Given the description of an element on the screen output the (x, y) to click on. 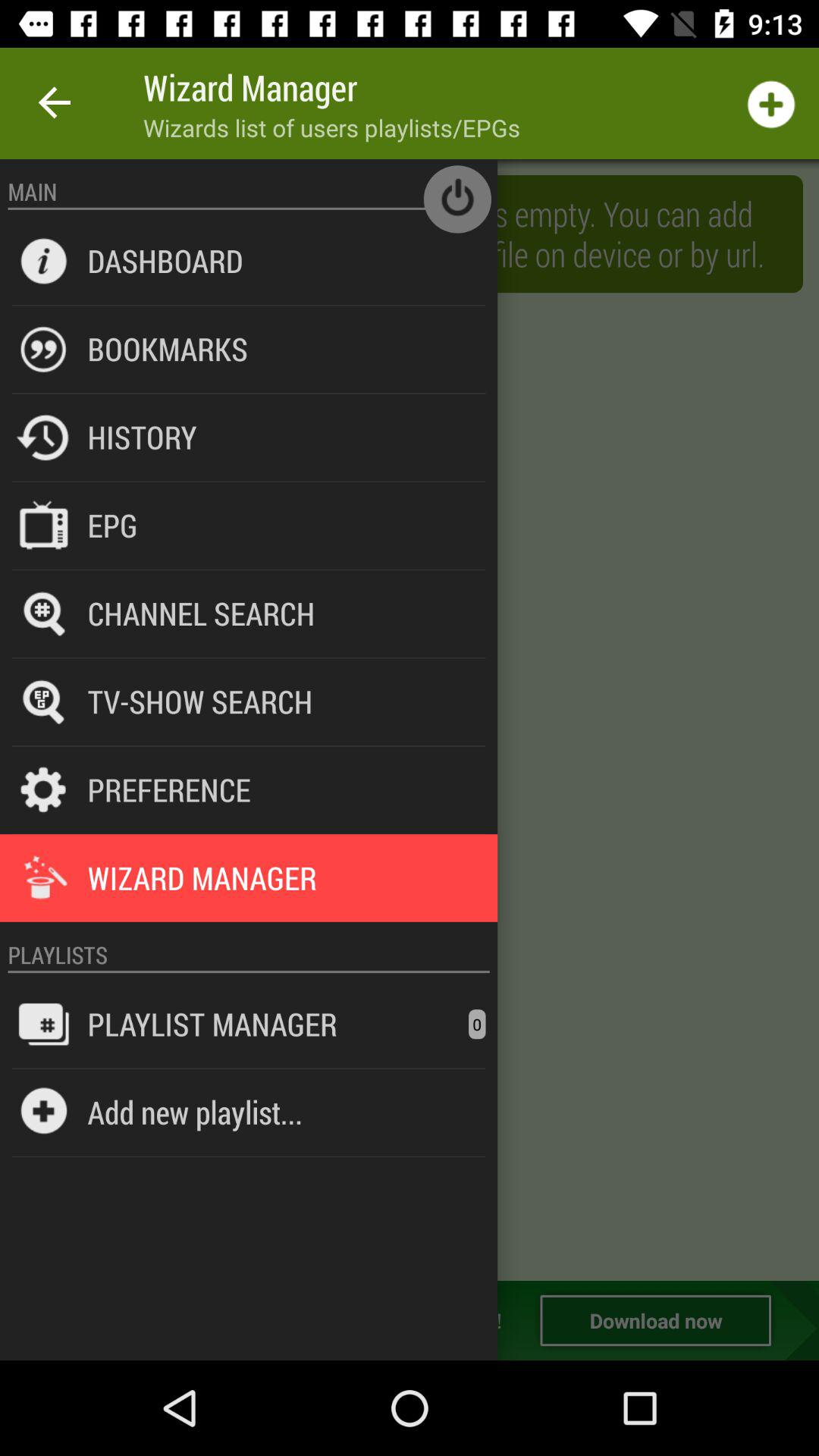
tap item to the right of the dashboard (457, 199)
